Given the description of an element on the screen output the (x, y) to click on. 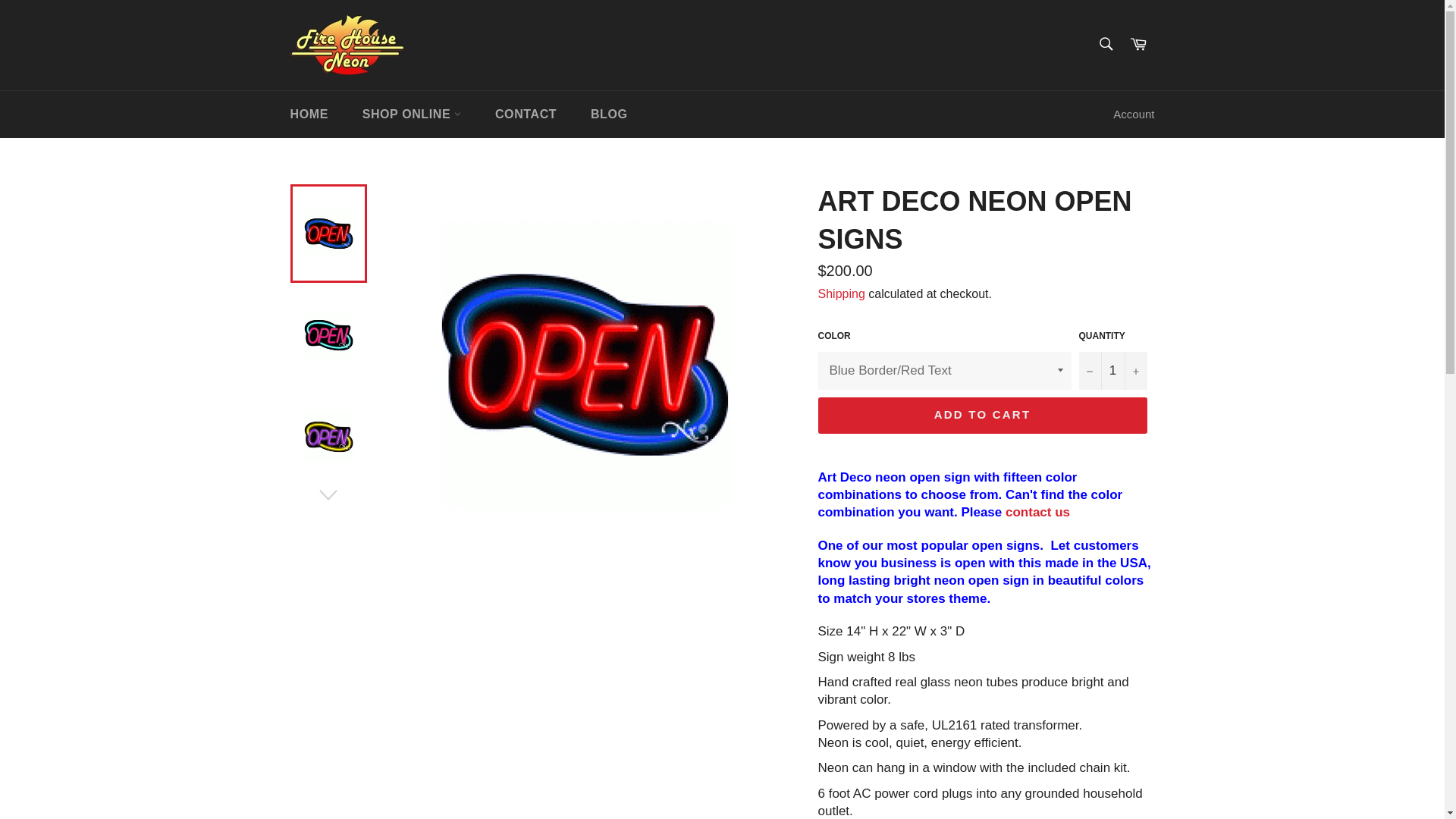
Contact Fire House Neon Signs (1038, 512)
1 (1112, 370)
